Given the description of an element on the screen output the (x, y) to click on. 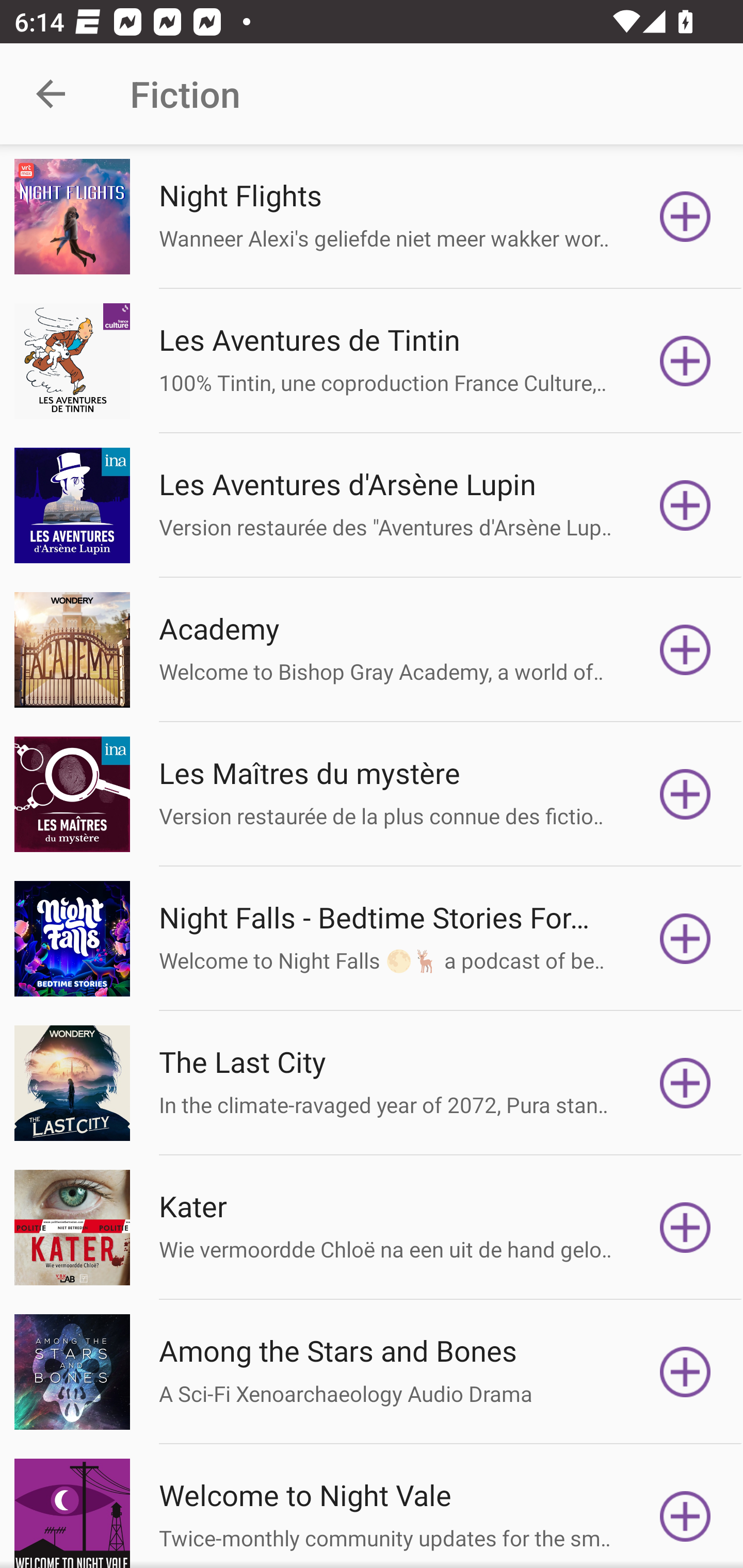
Navigate up (50, 93)
Subscribe (685, 216)
Subscribe (685, 360)
Subscribe (685, 505)
Subscribe (685, 649)
Subscribe (685, 793)
Subscribe (685, 939)
Subscribe (685, 1083)
Subscribe (685, 1227)
Subscribe (685, 1371)
Subscribe (685, 1513)
